Given the description of an element on the screen output the (x, y) to click on. 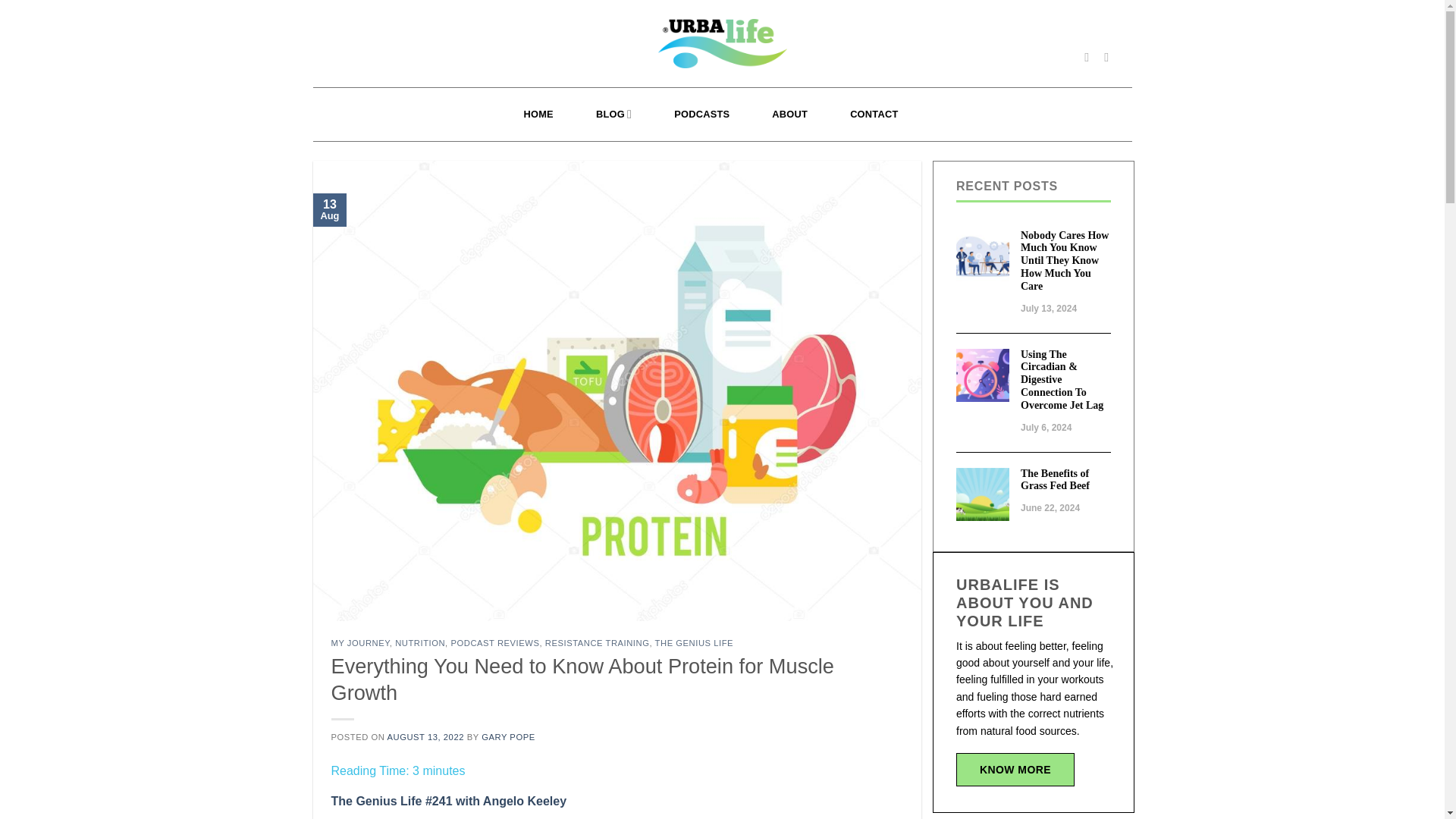
RESISTANCE TRAINING (596, 642)
UrbaLife - Nutrition Coaching Hong Kong (722, 43)
The Benefits of Grass Fed Beef (1065, 480)
ABOUT (789, 114)
PODCASTS (701, 114)
GARY POPE (508, 737)
CONTACT (874, 114)
THE GENIUS LIFE (694, 642)
NUTRITION (419, 642)
PODCAST REVIEWS (493, 642)
AUGUST 13, 2022 (425, 737)
MY JOURNEY (359, 642)
HOME (537, 114)
BLOG (613, 114)
